Given the description of an element on the screen output the (x, y) to click on. 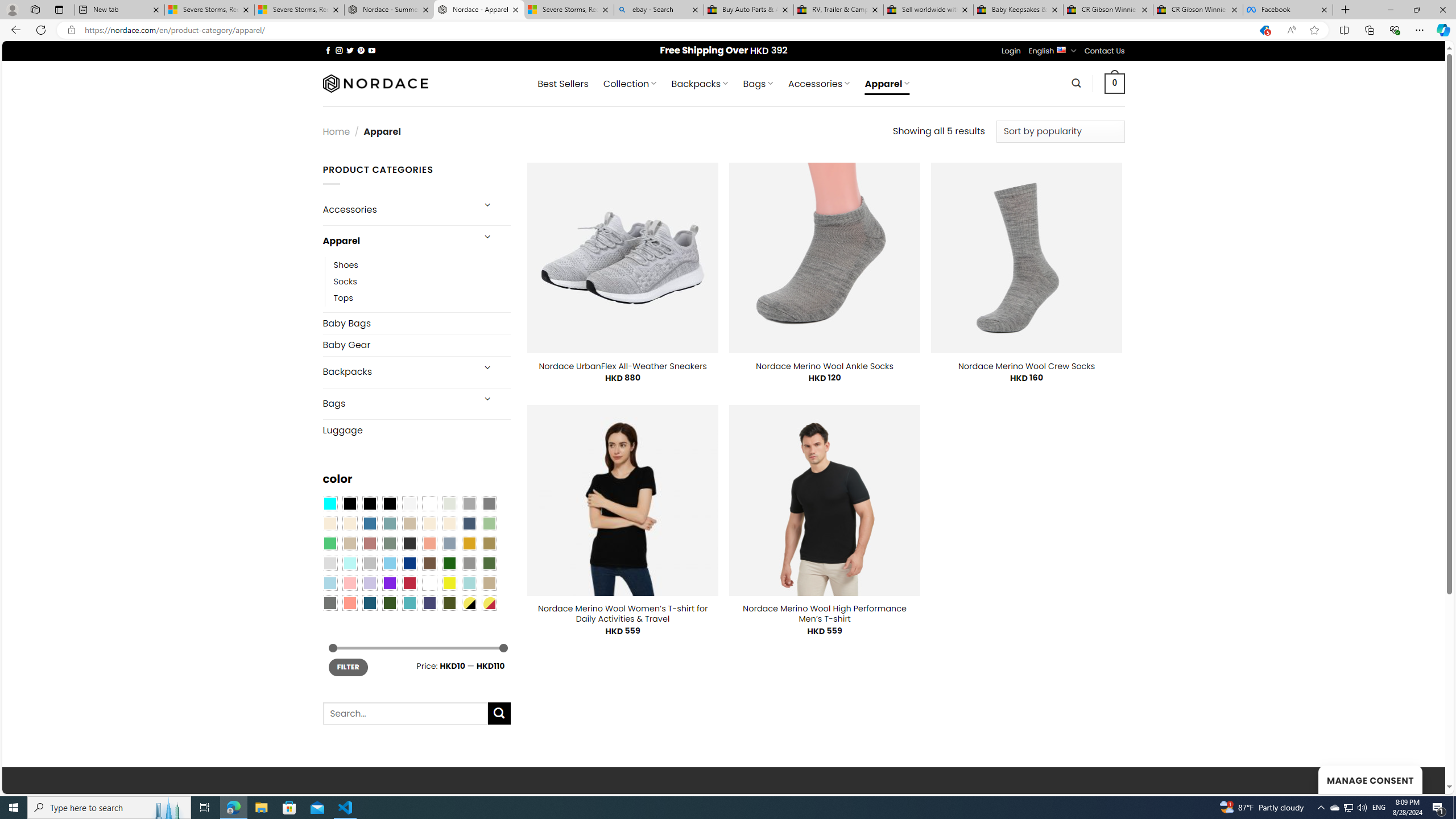
Pink (349, 582)
Search for: (404, 712)
Sky Blue (389, 562)
Baby Gear (416, 345)
Nordace UrbanFlex All-Weather Sneakers (622, 365)
Shoes (345, 264)
This site has coupons! Shopping in Microsoft Edge, 5 (1263, 29)
Dark Green (449, 562)
